Given the description of an element on the screen output the (x, y) to click on. 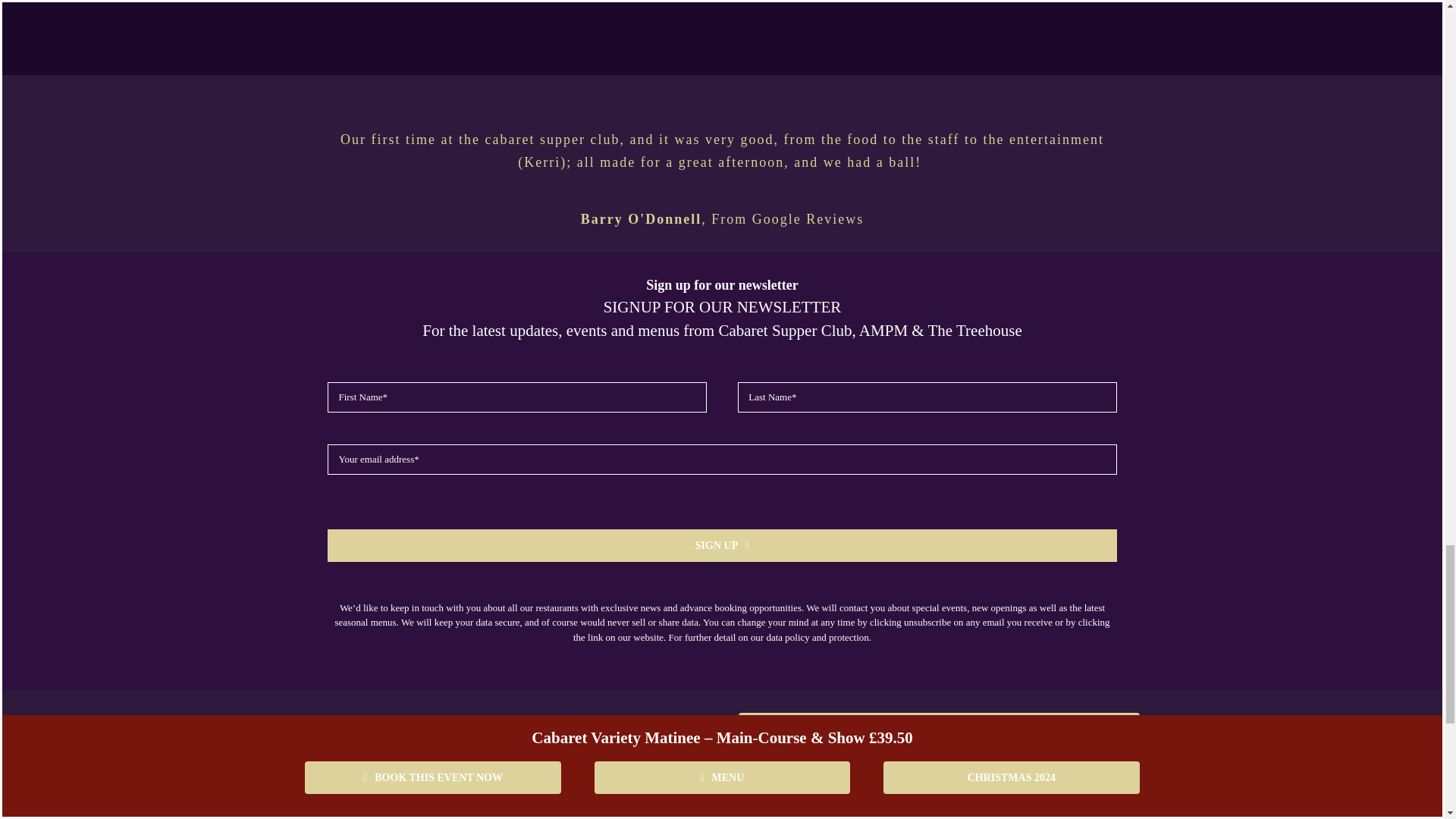
YouTube (896, 787)
Instagram (804, 787)
Facebook (757, 787)
X (850, 787)
Tiktok (942, 787)
LinkedIn (989, 787)
